Given the description of an element on the screen output the (x, y) to click on. 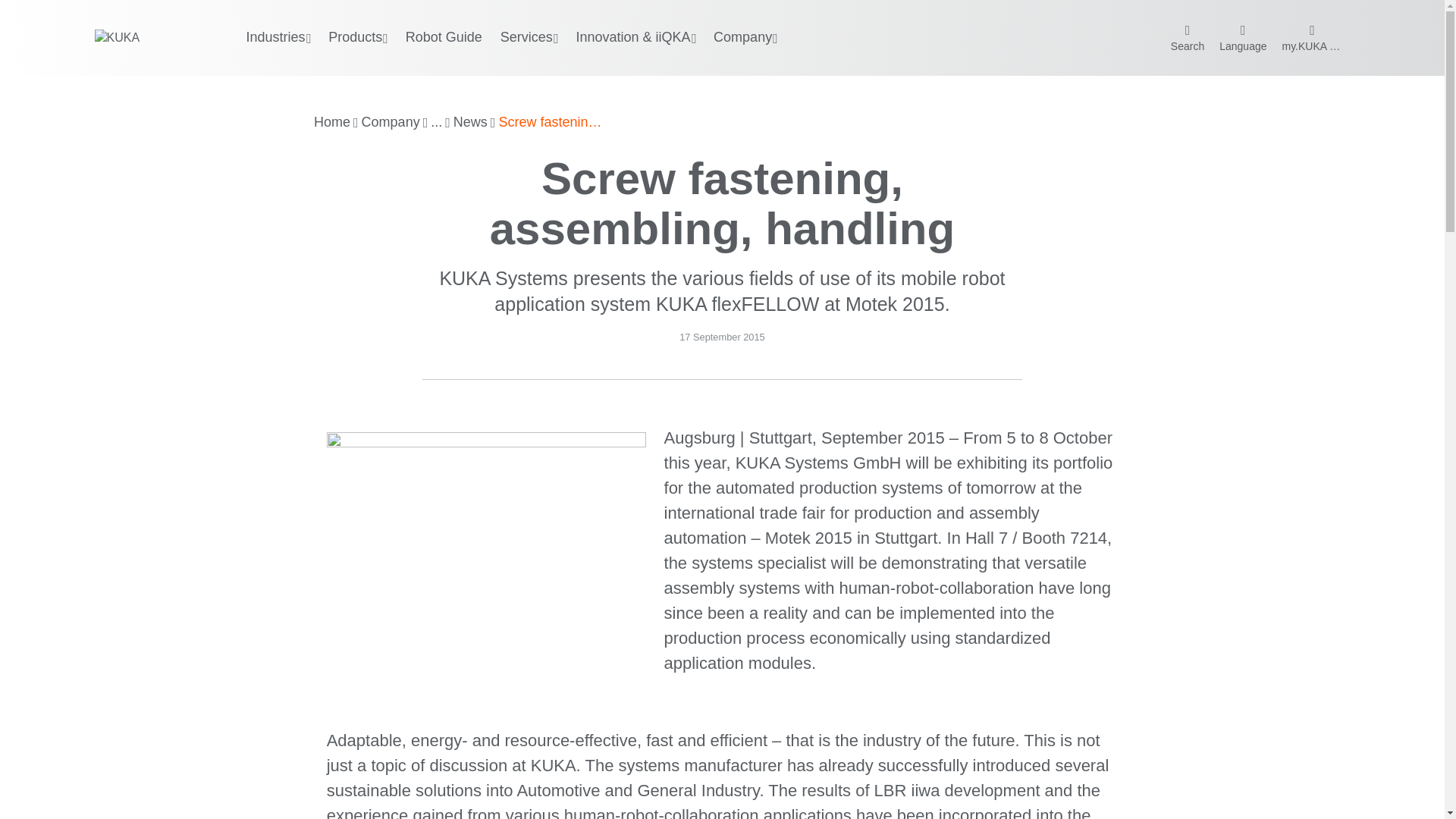
Company (390, 122)
Screw fastening, assembling, handling (551, 122)
News (469, 122)
Home (332, 122)
